Given the description of an element on the screen output the (x, y) to click on. 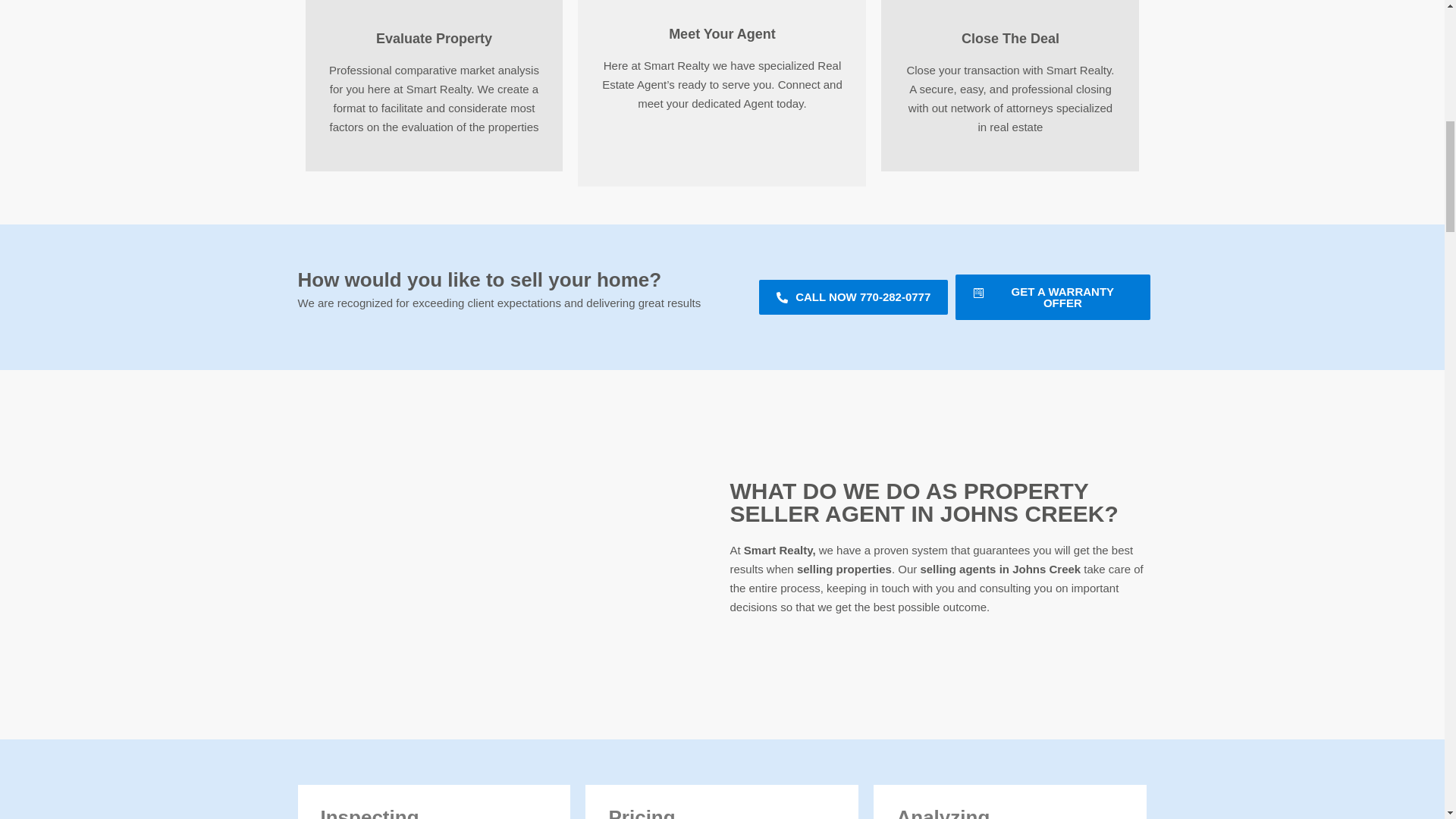
GET A WARRANTY OFFER (1052, 297)
CALL NOW 770-282-0777 (852, 297)
